Given the description of an element on the screen output the (x, y) to click on. 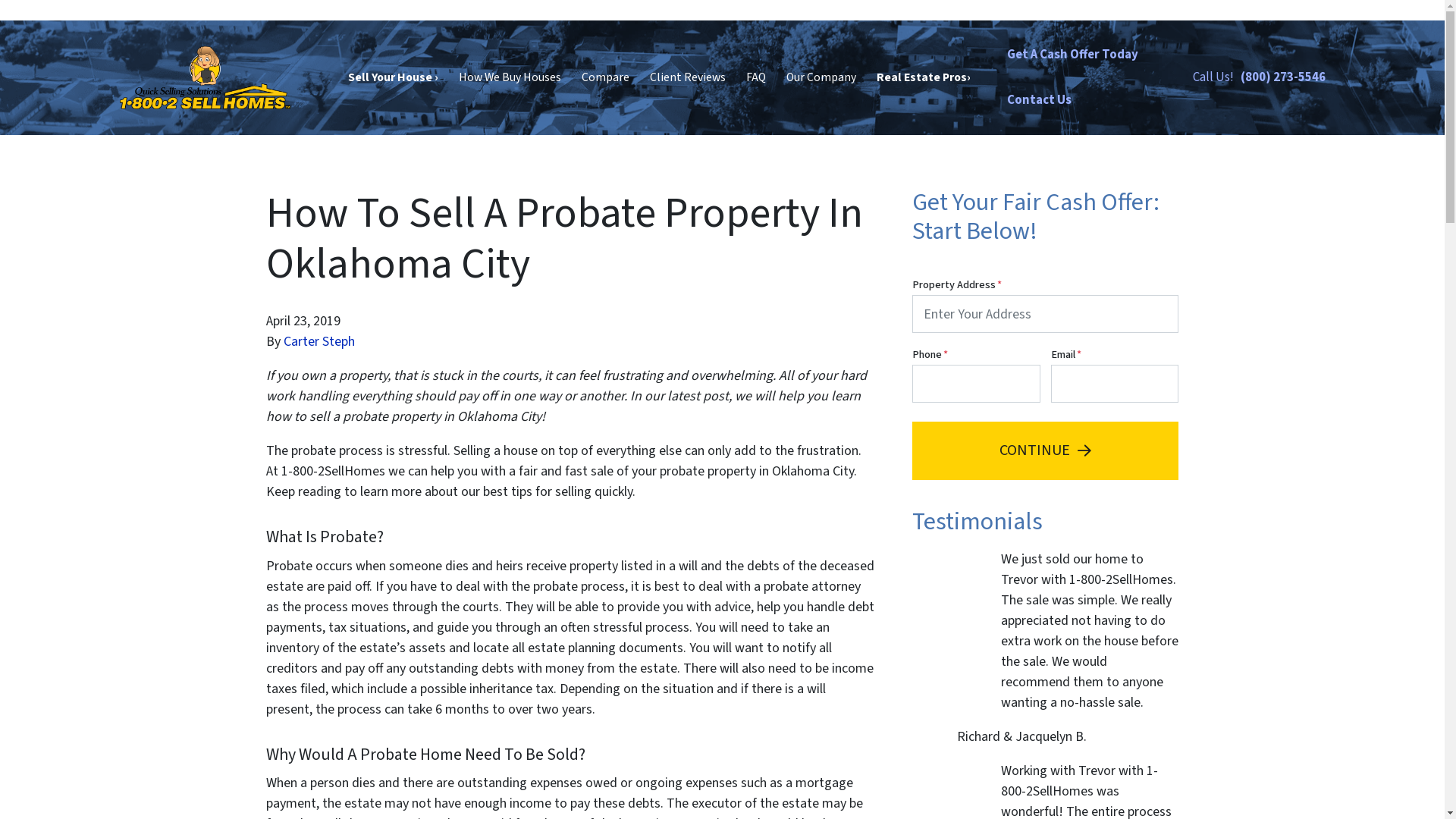
How We Buy Houses Element type: text (509, 77)
Compare Element type: text (605, 77)
Contact Us Element type: text (1039, 99)
Our Company Element type: text (821, 77)
FAQ Element type: text (756, 77)
CONTINUE Element type: text (1045, 450)
Carter Steph Element type: text (318, 341)
Client Reviews Element type: text (688, 77)
Get A Cash Offer Today Element type: text (1072, 55)
(800) 273-5546 Element type: text (1282, 77)
